Given the description of an element on the screen output the (x, y) to click on. 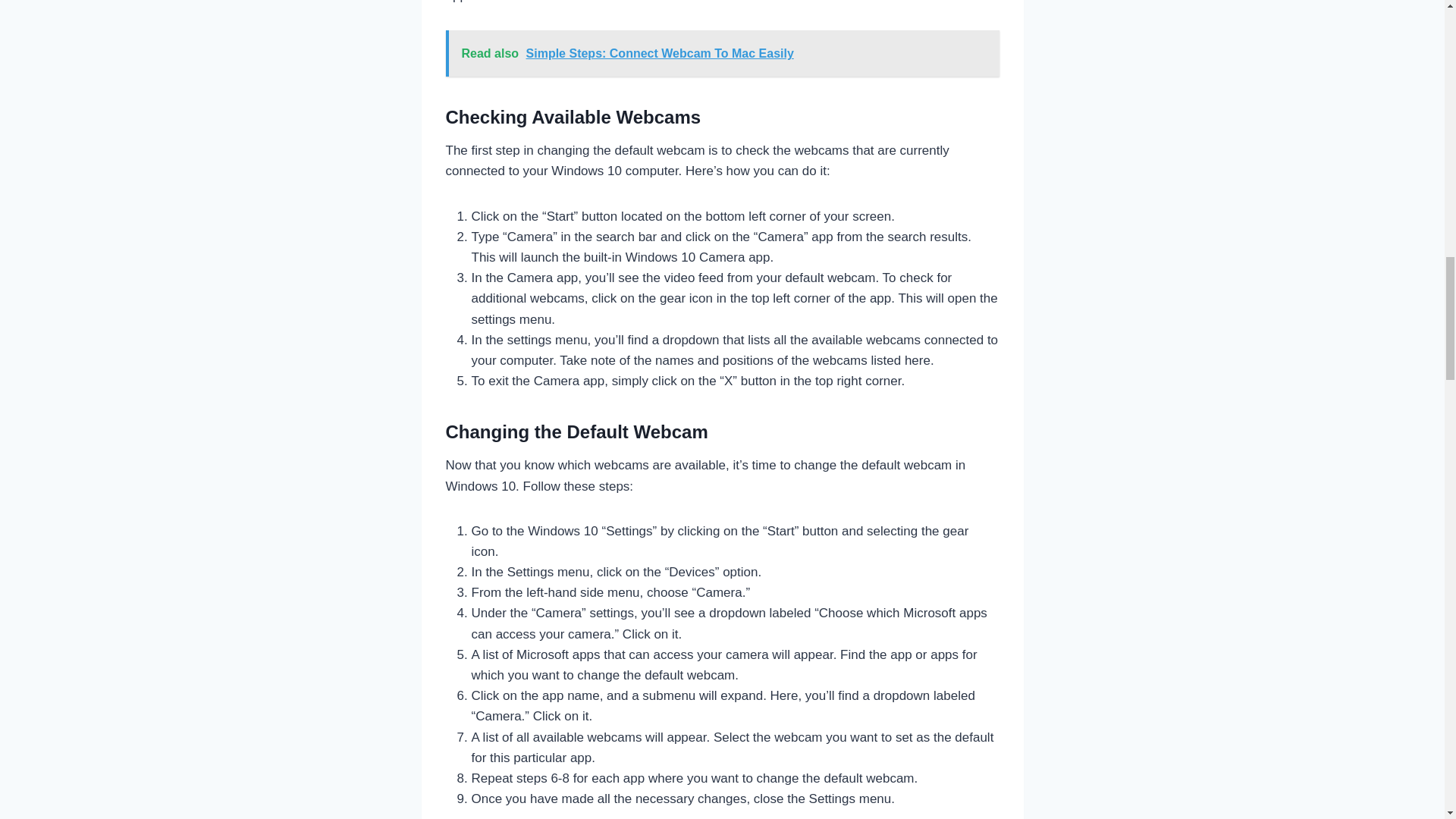
Read also  Simple Steps: Connect Webcam To Mac Easily (721, 53)
